Given the description of an element on the screen output the (x, y) to click on. 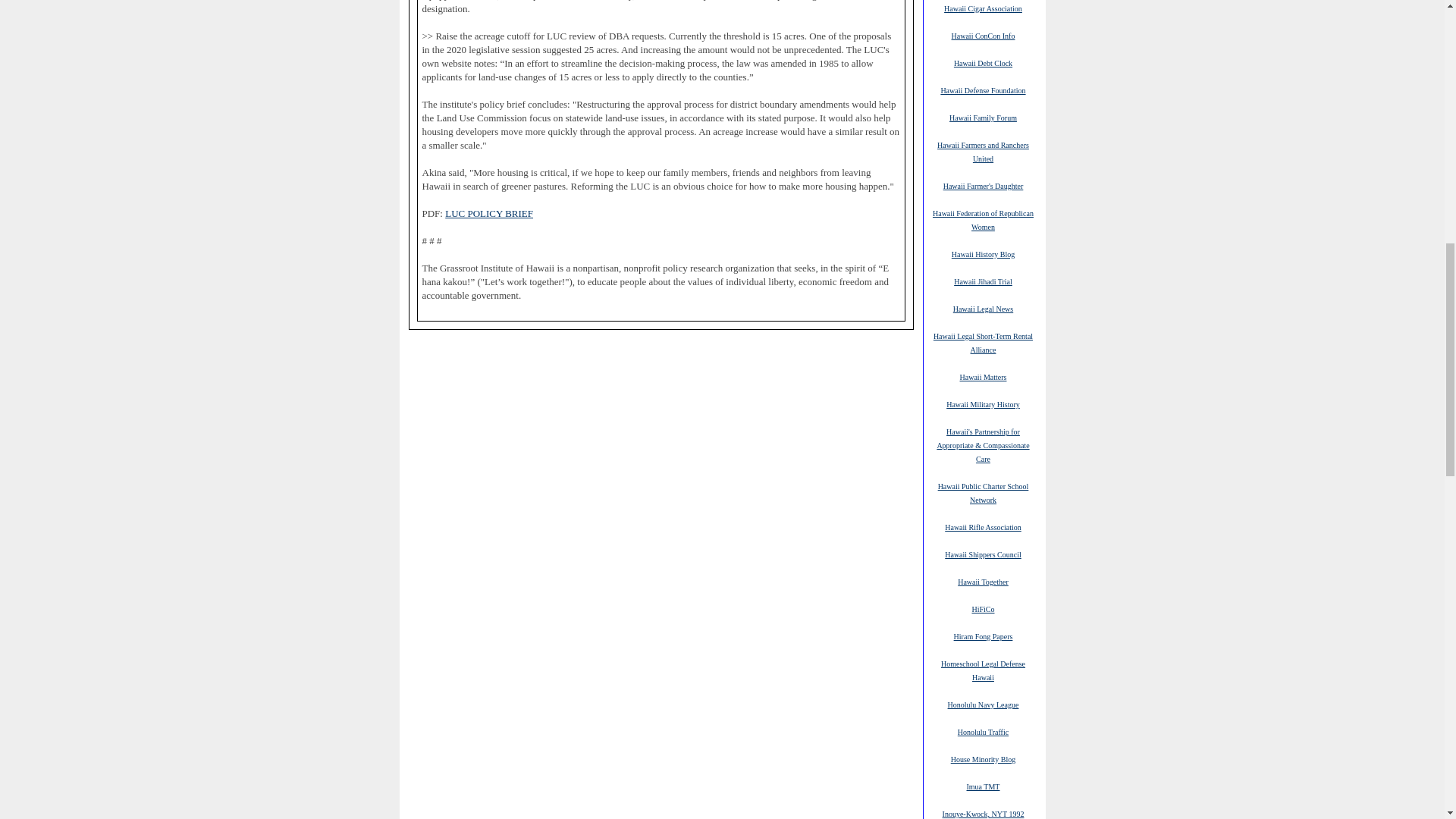
Hawaii Family Forum (982, 117)
Hawaii ConCon Info (983, 35)
Hawaii Cigar Association (982, 8)
LUC POLICY BRIEF (488, 213)
Hawaii Debt Clock (982, 62)
Hawaii Farmers and Ranchers United (983, 151)
Hawaii Defense Foundation (982, 90)
Hawaii Farmer's Daughter (983, 185)
